Given the description of an element on the screen output the (x, y) to click on. 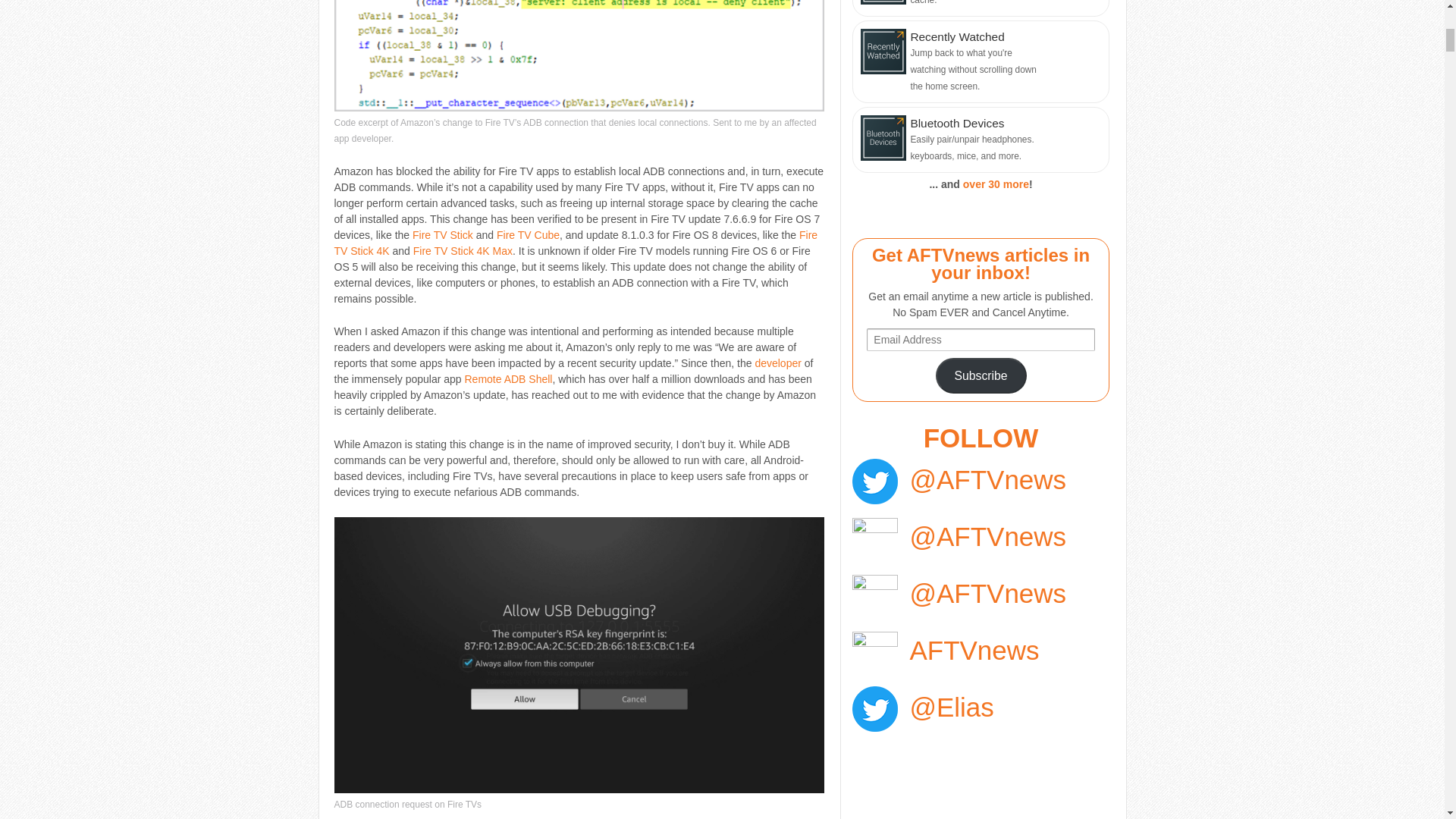
developer (778, 363)
Fire TV Cube (527, 234)
Fire TV Stick 4K (574, 243)
Remote ADB Shell (507, 378)
Fire TV Stick 4K Max (462, 250)
Fire TV Stick (442, 234)
